Given the description of an element on the screen output the (x, y) to click on. 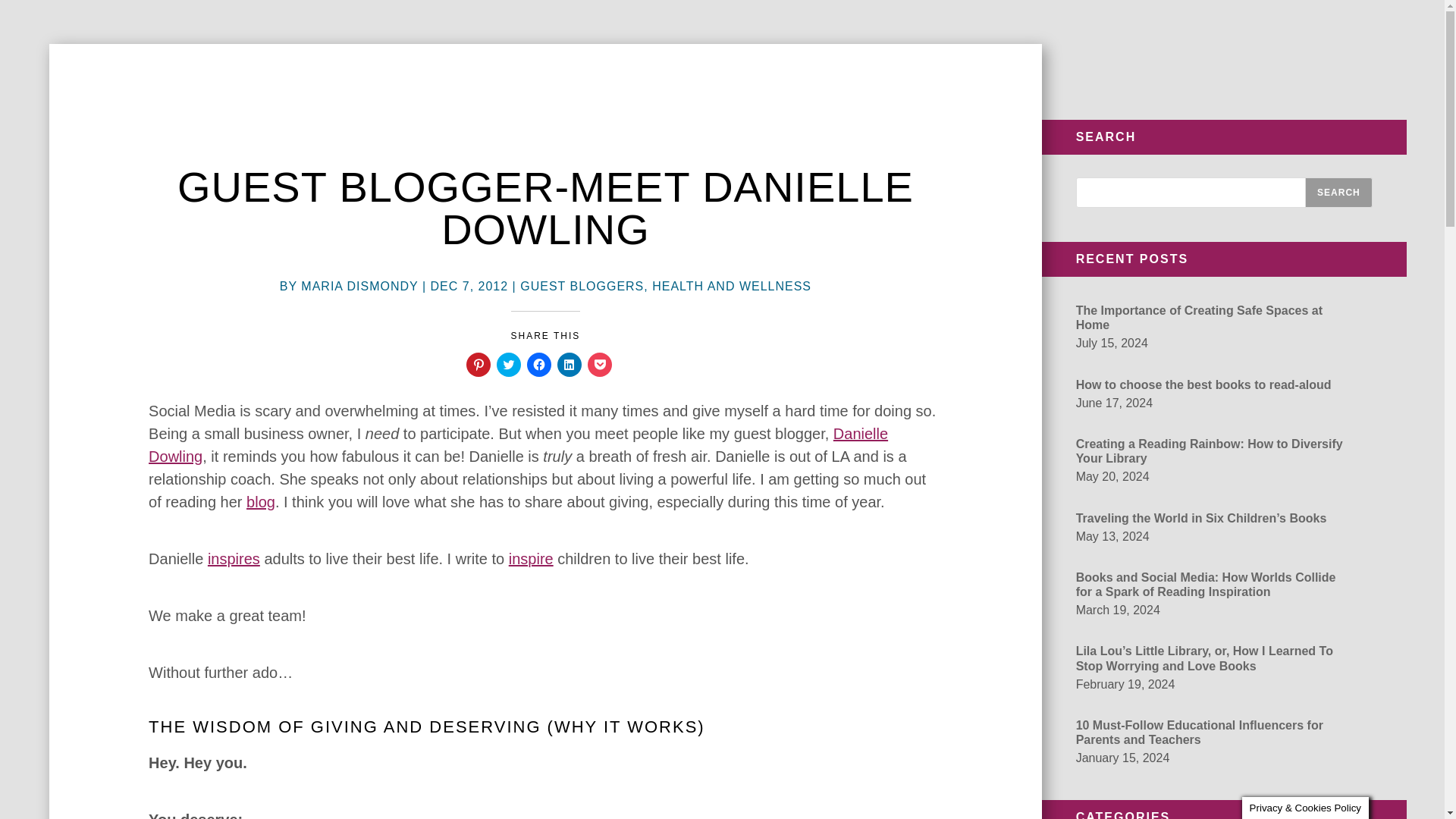
HEALTH AND WELLNESS (731, 286)
Posts by Maria Dismondy (359, 286)
Click to share on Pinterest (477, 364)
Click to share on LinkedIn (568, 364)
Danielle Dowling (518, 445)
Click to share on Twitter (508, 364)
Click to share on Pocket (599, 364)
inspires (234, 558)
Click to share on Facebook (539, 364)
GUEST BLOGGERS (581, 286)
inspire (530, 558)
Search (1338, 192)
blog (260, 501)
MARIA DISMONDY (359, 286)
